Given the description of an element on the screen output the (x, y) to click on. 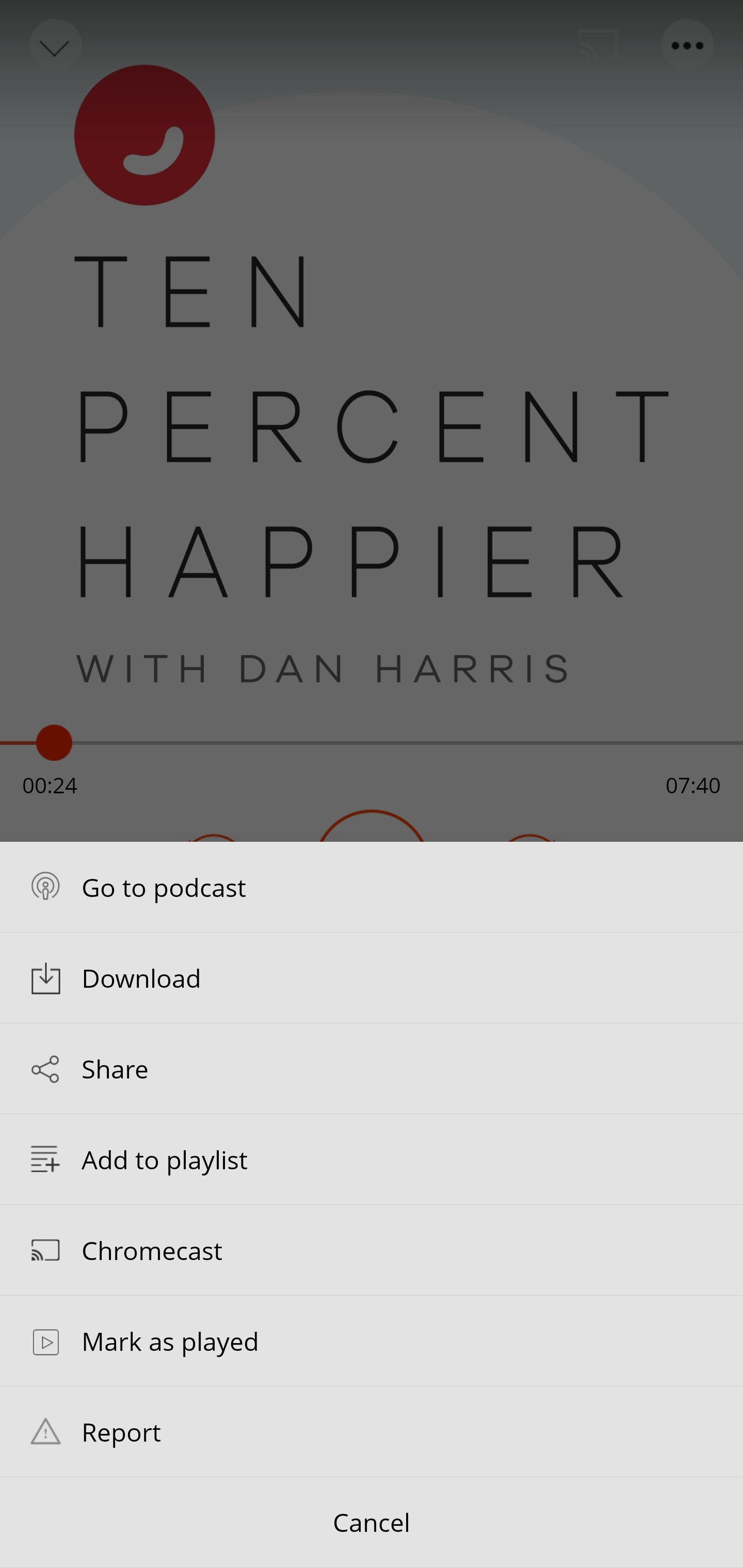
Go to podcast (371, 886)
Download (371, 977)
Share (371, 1068)
Add to playlist (371, 1159)
Chromecast (371, 1249)
Mark as played (371, 1340)
Report (371, 1431)
Cancel (371, 1522)
